Given the description of an element on the screen output the (x, y) to click on. 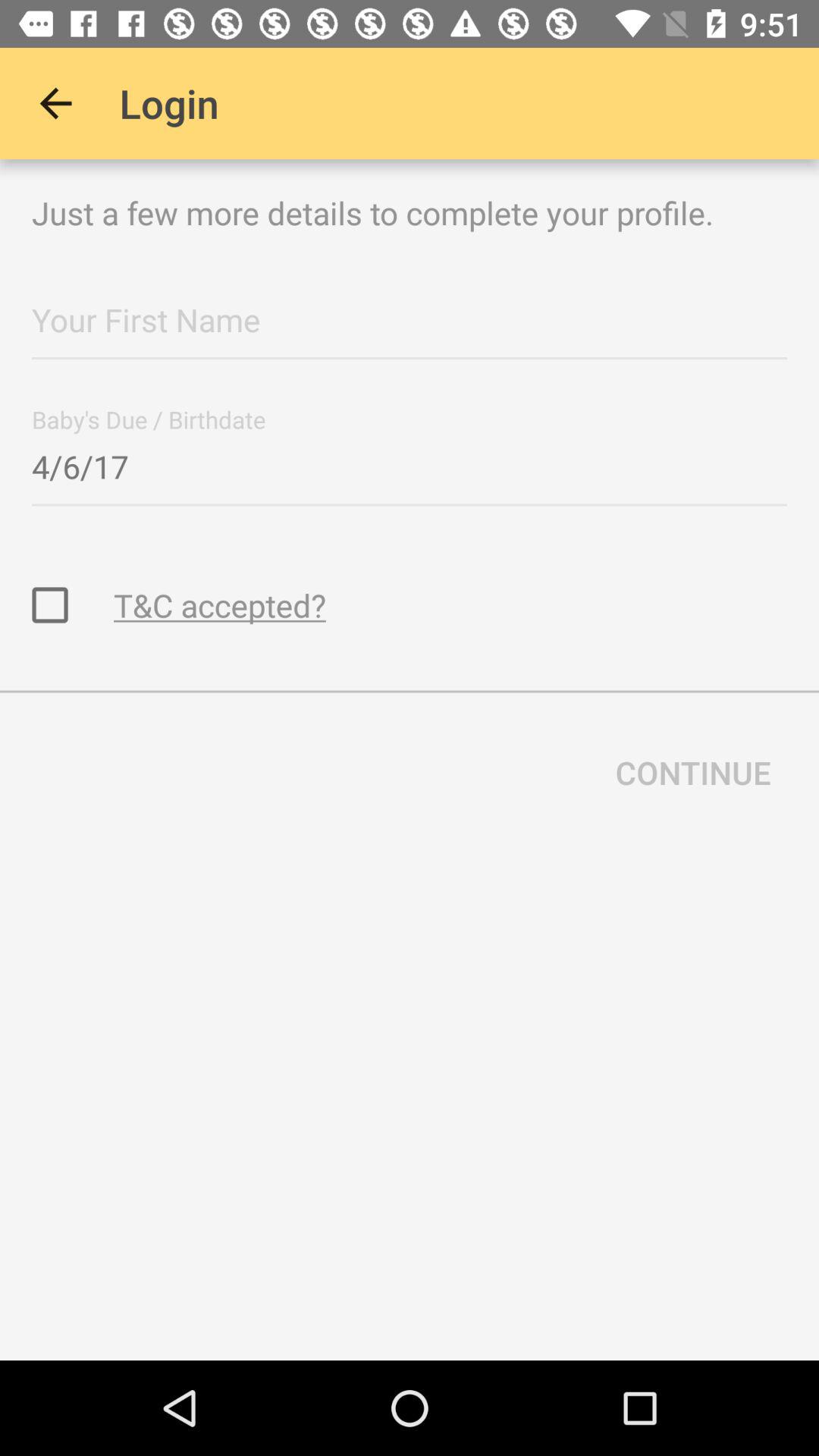
launch continue item (693, 772)
